Given the description of an element on the screen output the (x, y) to click on. 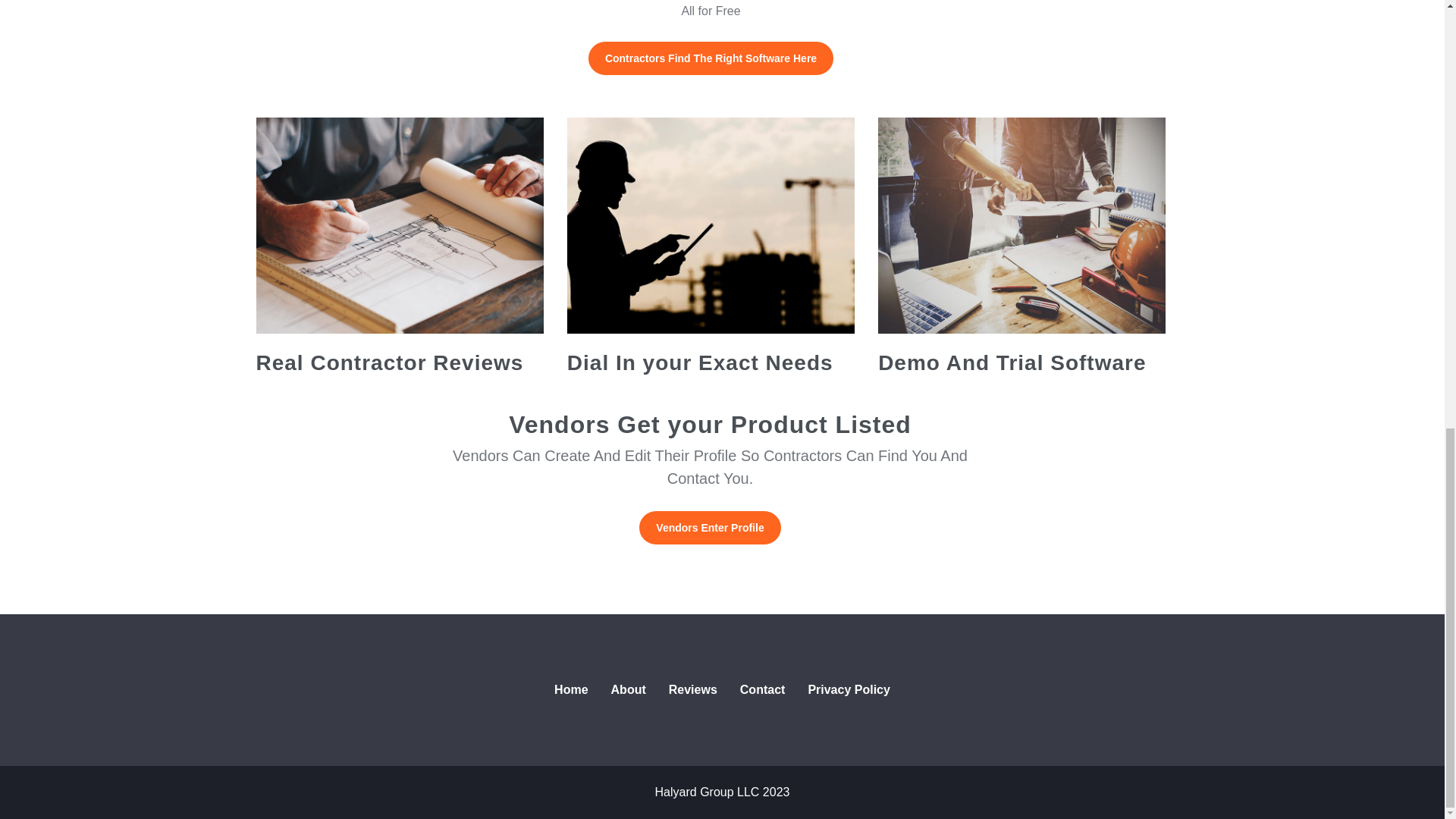
Vendors Enter Profile (709, 527)
Privacy Policy (848, 689)
About (628, 689)
Reviews (693, 689)
Contact (762, 689)
Home (570, 689)
Contractors Find The Right Software Here (710, 58)
